Given the description of an element on the screen output the (x, y) to click on. 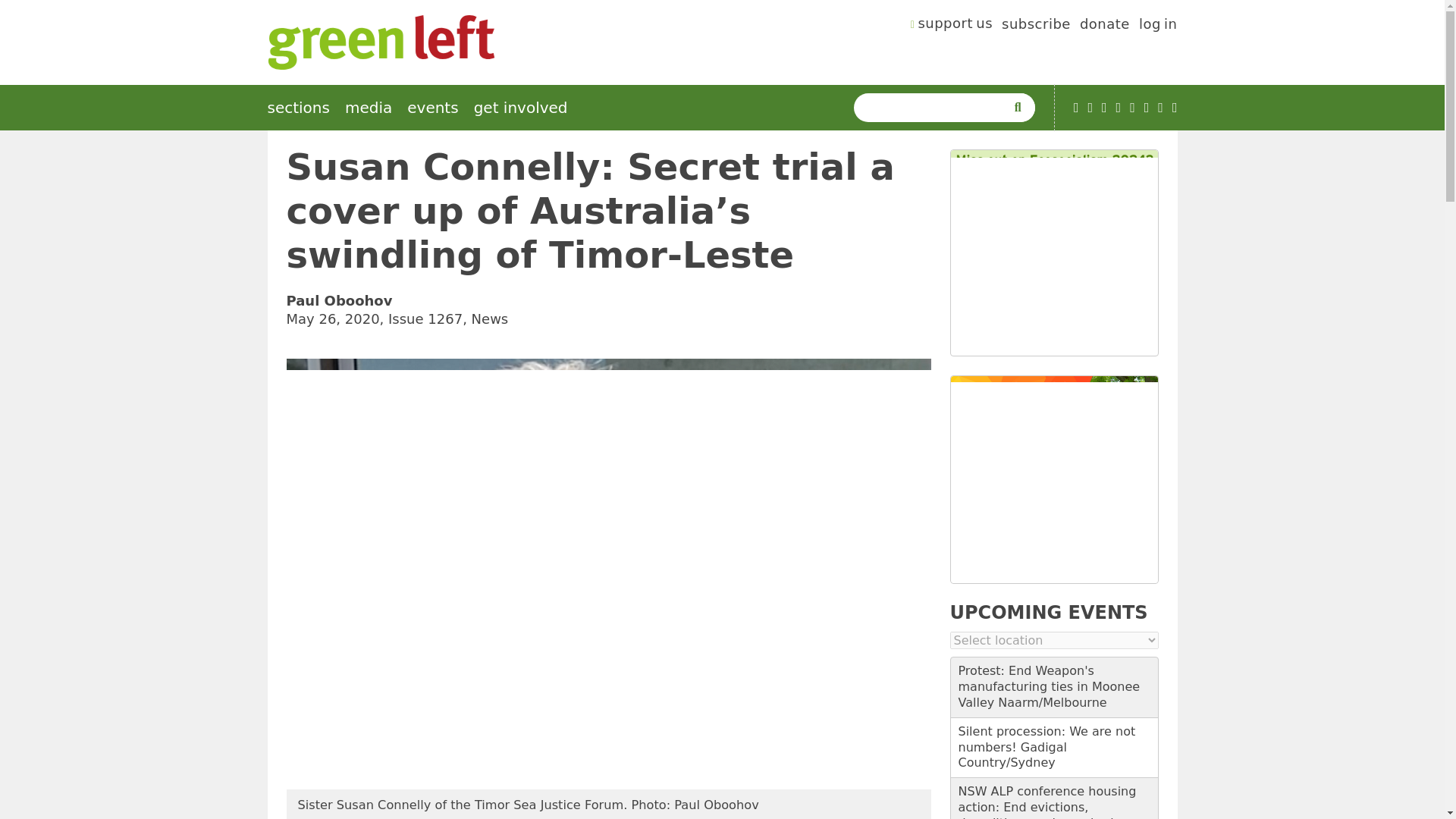
Facebook (1104, 107)
Podcast (1090, 107)
YouTube (1076, 107)
subscribe (1035, 26)
donate (1104, 26)
Enter the terms you wish to search for. (932, 107)
TikTok (1118, 107)
support us (951, 26)
log in (1157, 26)
events (432, 107)
